Given the description of an element on the screen output the (x, y) to click on. 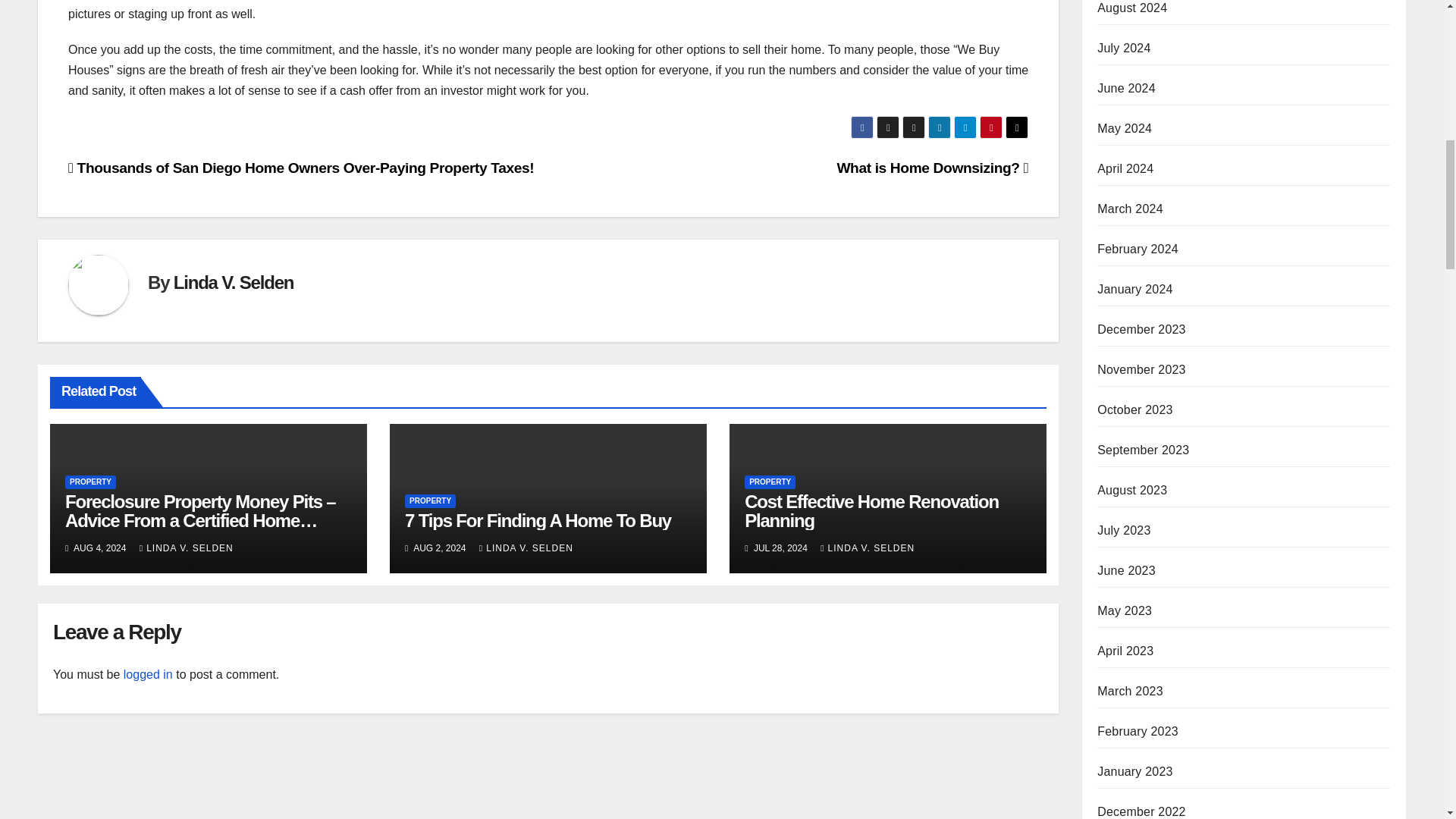
What is Home Downsizing? (931, 167)
Linda V. Selden (233, 281)
